Given the description of an element on the screen output the (x, y) to click on. 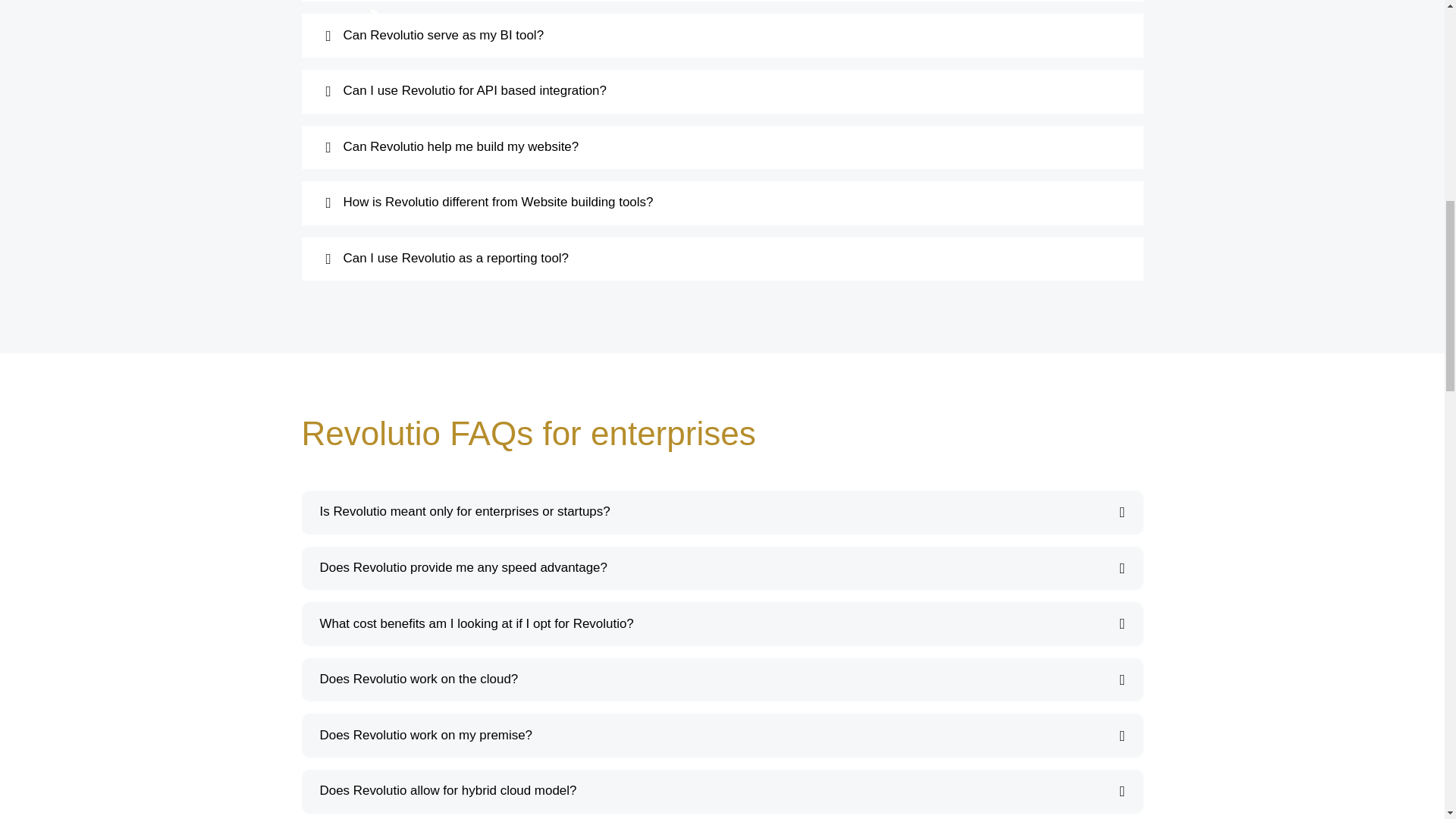
Can I use Revolutio as a reporting tool? (722, 258)
Can Revolutio help me build my website? (722, 147)
Can Revolutio serve as my BI tool? (722, 35)
Can I use Revolutio for API based integration? (722, 91)
How is Revolutio different from Website building tools? (722, 202)
